Given the description of an element on the screen output the (x, y) to click on. 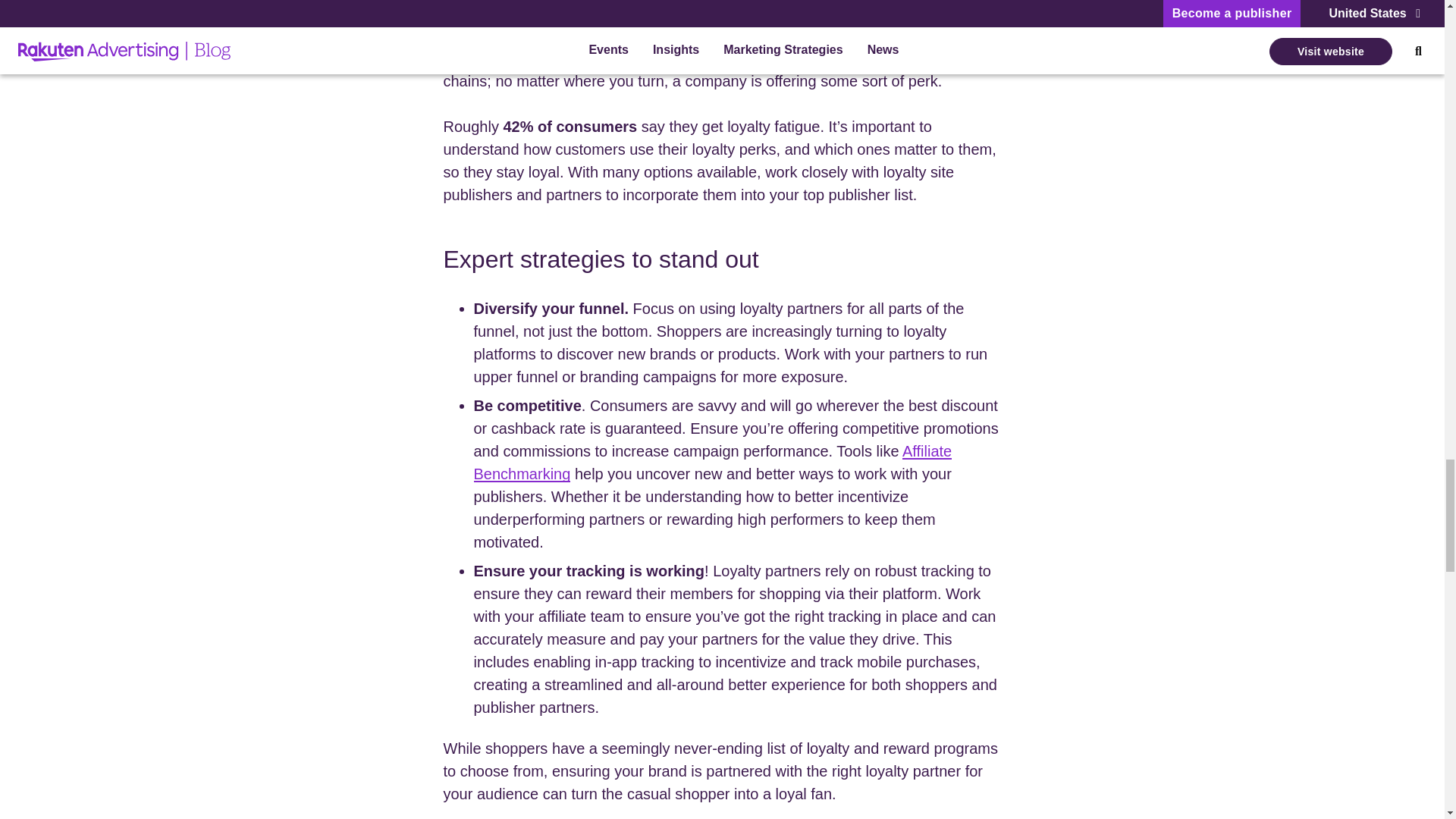
Affiliate Benchmarking (712, 462)
